Given the description of an element on the screen output the (x, y) to click on. 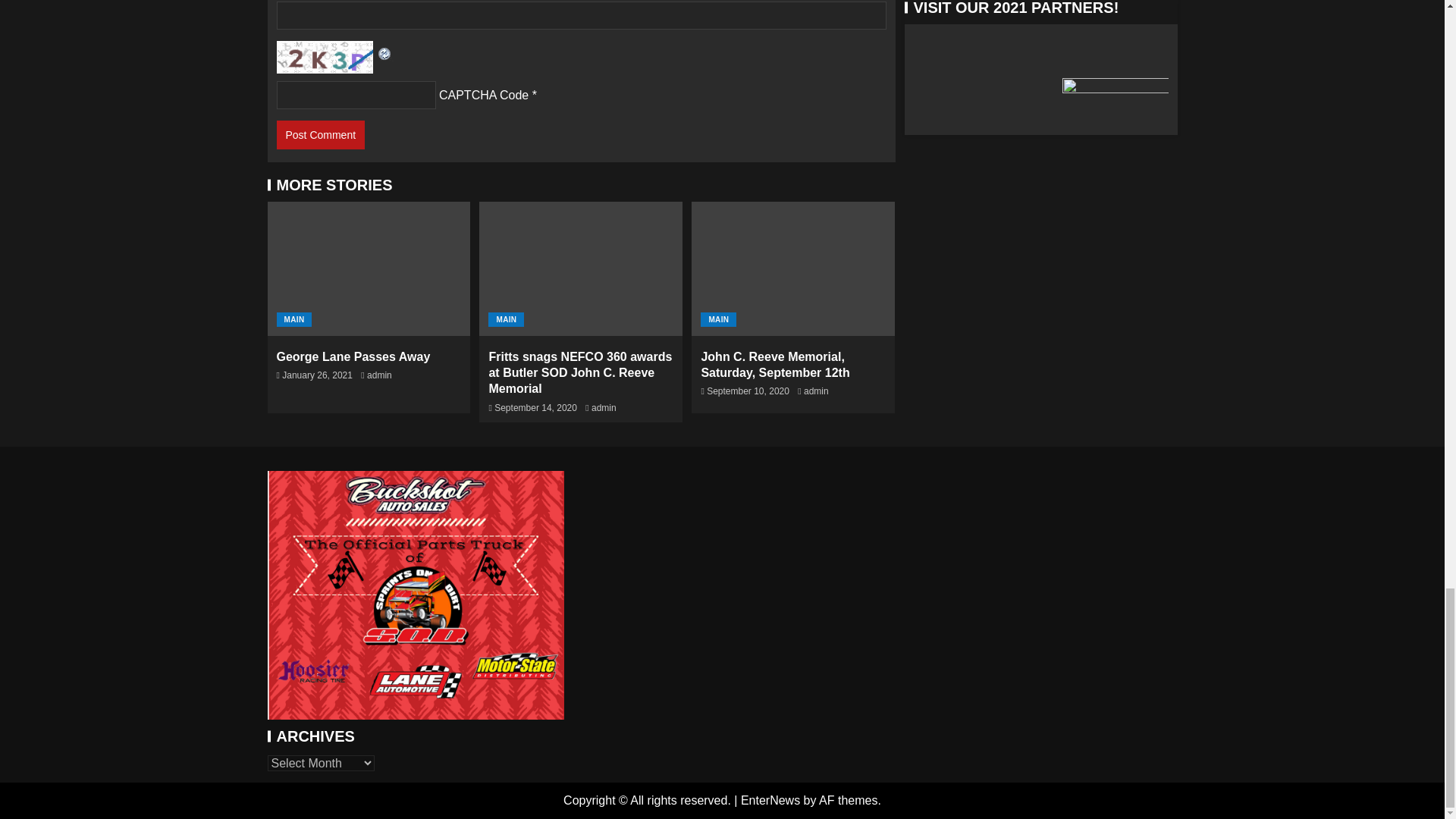
Refresh (384, 51)
Post Comment (320, 134)
CAPTCHA (325, 56)
